Given the description of an element on the screen output the (x, y) to click on. 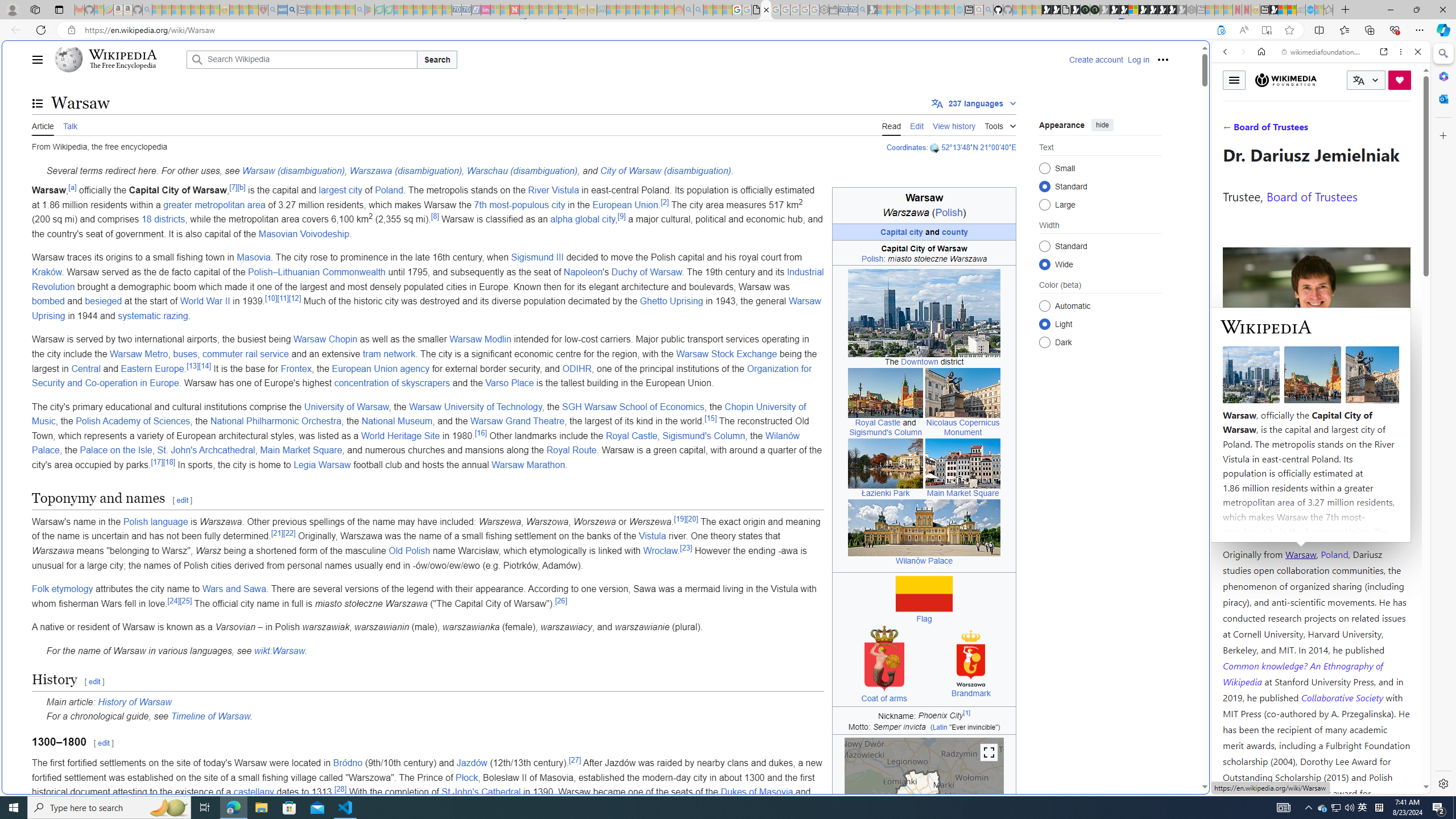
[15] (710, 417)
Automatic (1044, 305)
St. John's Archcathedral (205, 450)
largest city (340, 189)
Organization for Security and Co-operation in Europe (422, 375)
[23] (685, 547)
[20] (691, 518)
Capital city and county (923, 231)
